Given the description of an element on the screen output the (x, y) to click on. 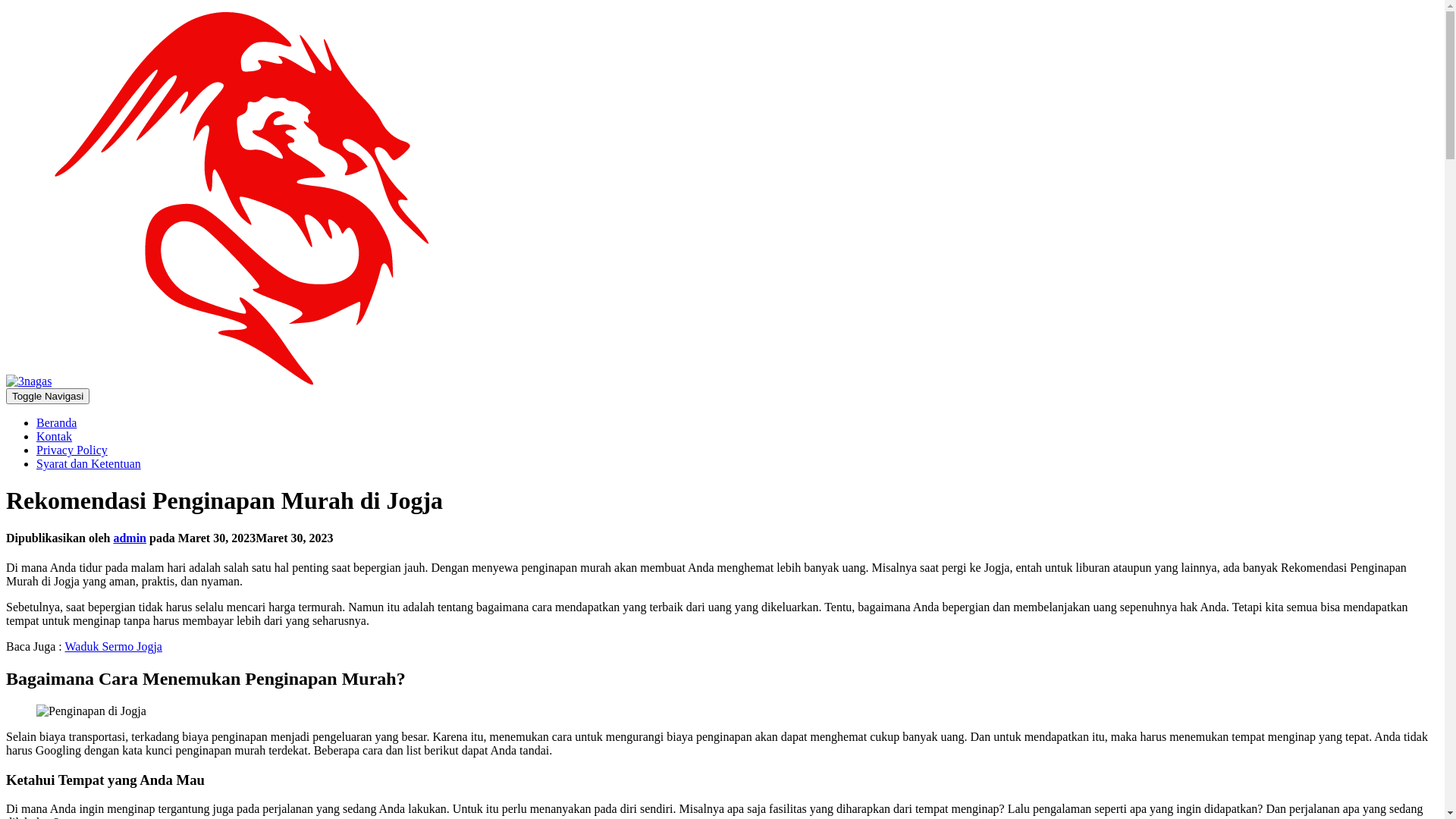
Privacy Policy Element type: text (71, 449)
Kontak Element type: text (54, 435)
Waduk Sermo Jogja Element type: text (112, 646)
admin Element type: text (129, 537)
3nagas Element type: hover (218, 380)
Toggle Navigasi Element type: text (47, 396)
Syarat dan Ketentuan Element type: text (88, 463)
Beranda Element type: text (56, 422)
